Given the description of an element on the screen output the (x, y) to click on. 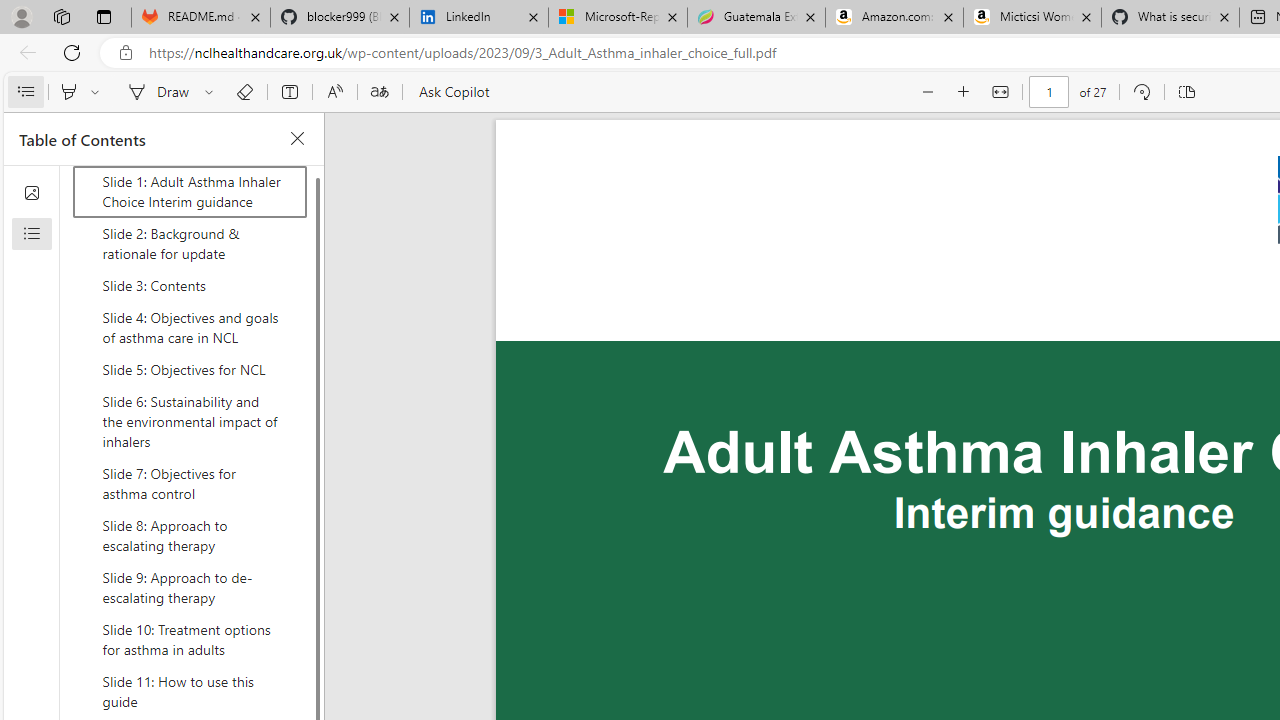
Zoom out (Ctrl+Minus key) (928, 92)
Highlight (68, 92)
Select a highlight color (98, 92)
Fit to width (Ctrl+\) (999, 92)
Contents (25, 92)
Draw (155, 92)
Read aloud (334, 92)
Zoom in (Ctrl+Plus key) (964, 92)
Ask Copilot (452, 92)
Page number (1049, 92)
